Given the description of an element on the screen output the (x, y) to click on. 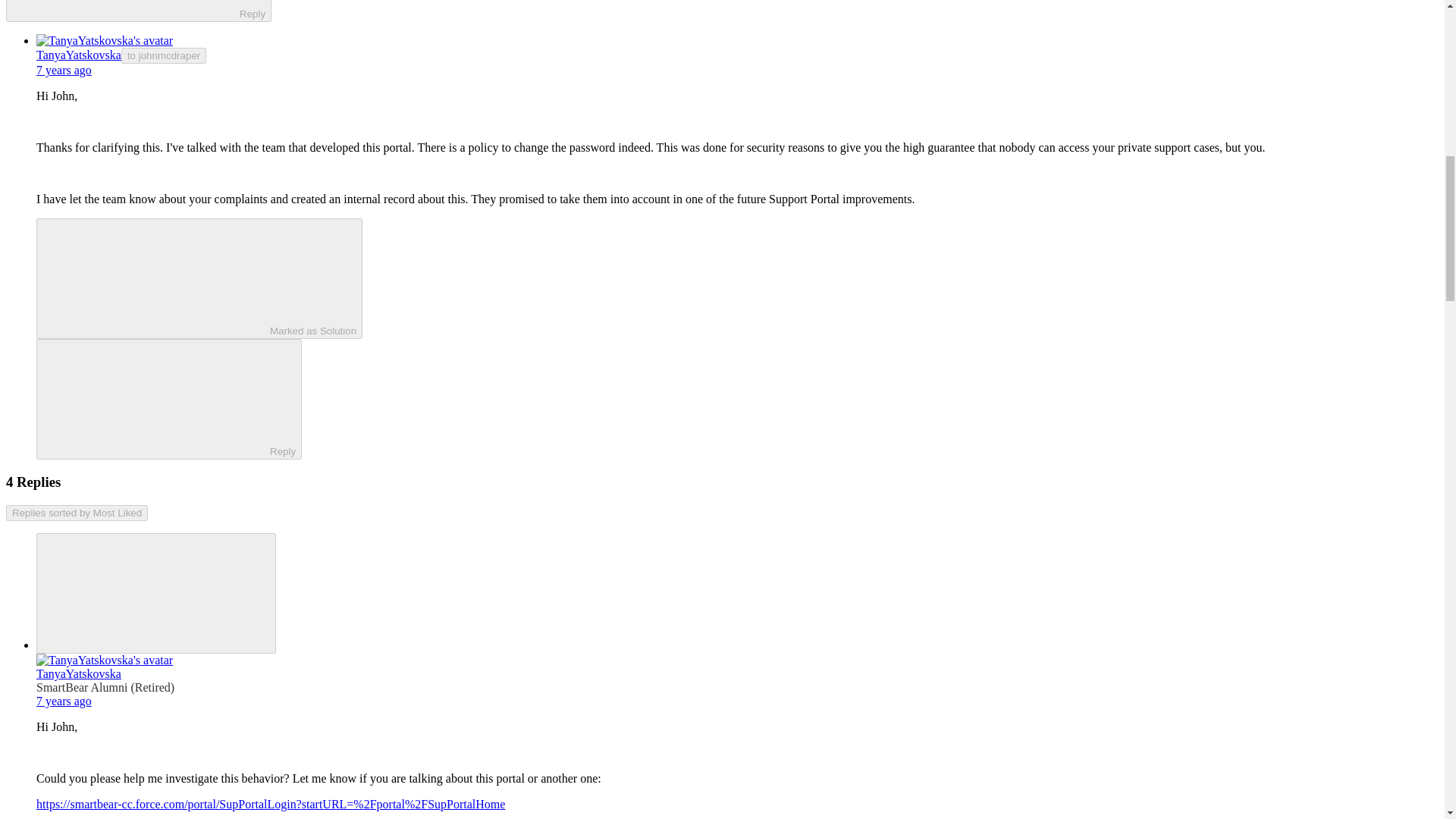
June 8, 2018 at 9:17 AM (63, 69)
ReplyReply (137, 11)
June 7, 2018 at 12:24 PM (63, 700)
ReplyReply (168, 399)
Reply (155, 398)
7 years ago (63, 69)
Reply (125, 8)
TanyaYatskovska (78, 54)
TanyaYatskovska (78, 673)
to johnmcdraper (163, 55)
